Given the description of an element on the screen output the (x, y) to click on. 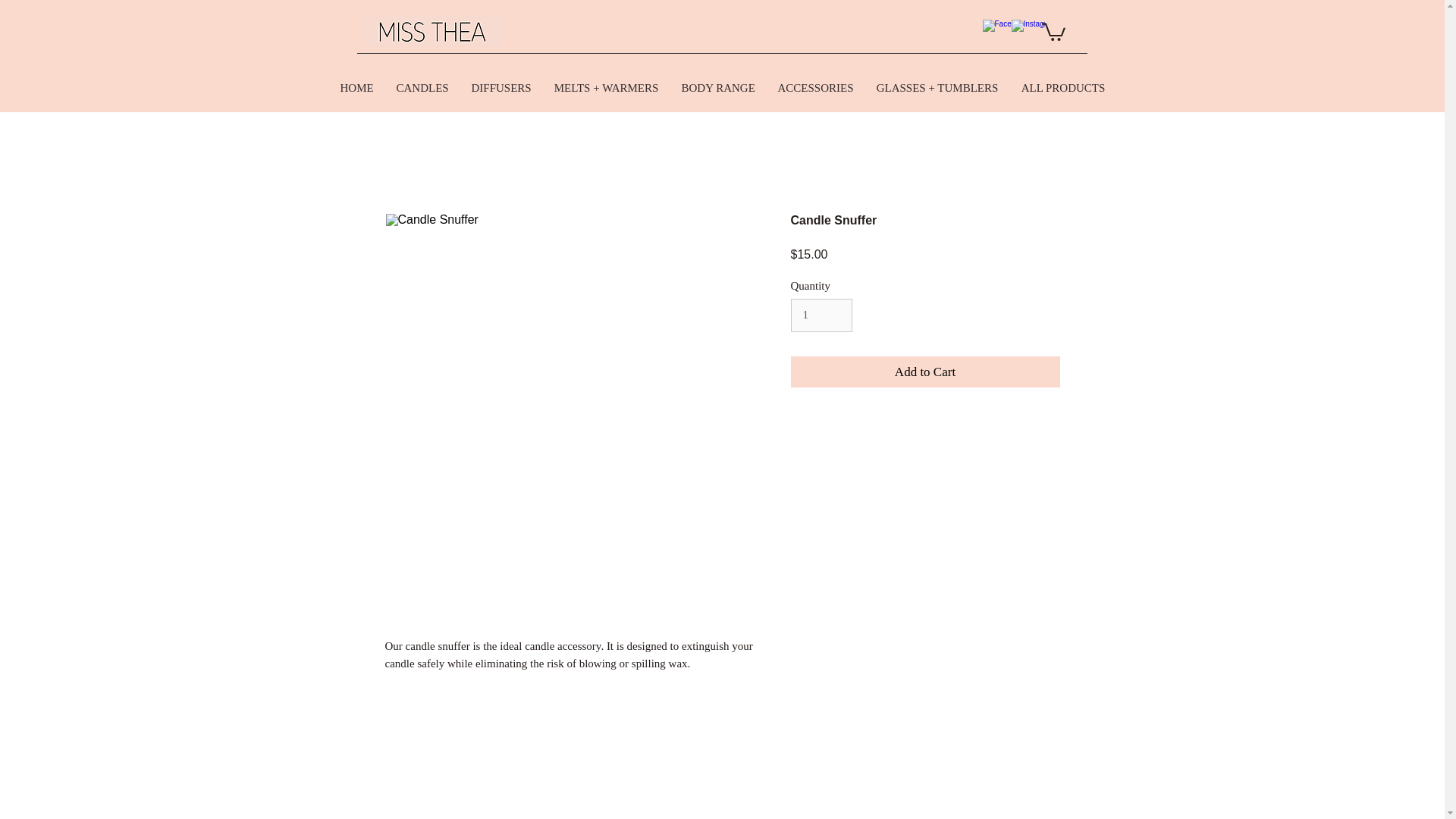
CANDLES (422, 88)
DIFFUSERS (500, 88)
HOME (357, 88)
ALL PRODUCTS (1063, 88)
ACCESSORIES (814, 88)
1 (820, 315)
BODY RANGE (718, 88)
Add to Cart (924, 372)
